Given the description of an element on the screen output the (x, y) to click on. 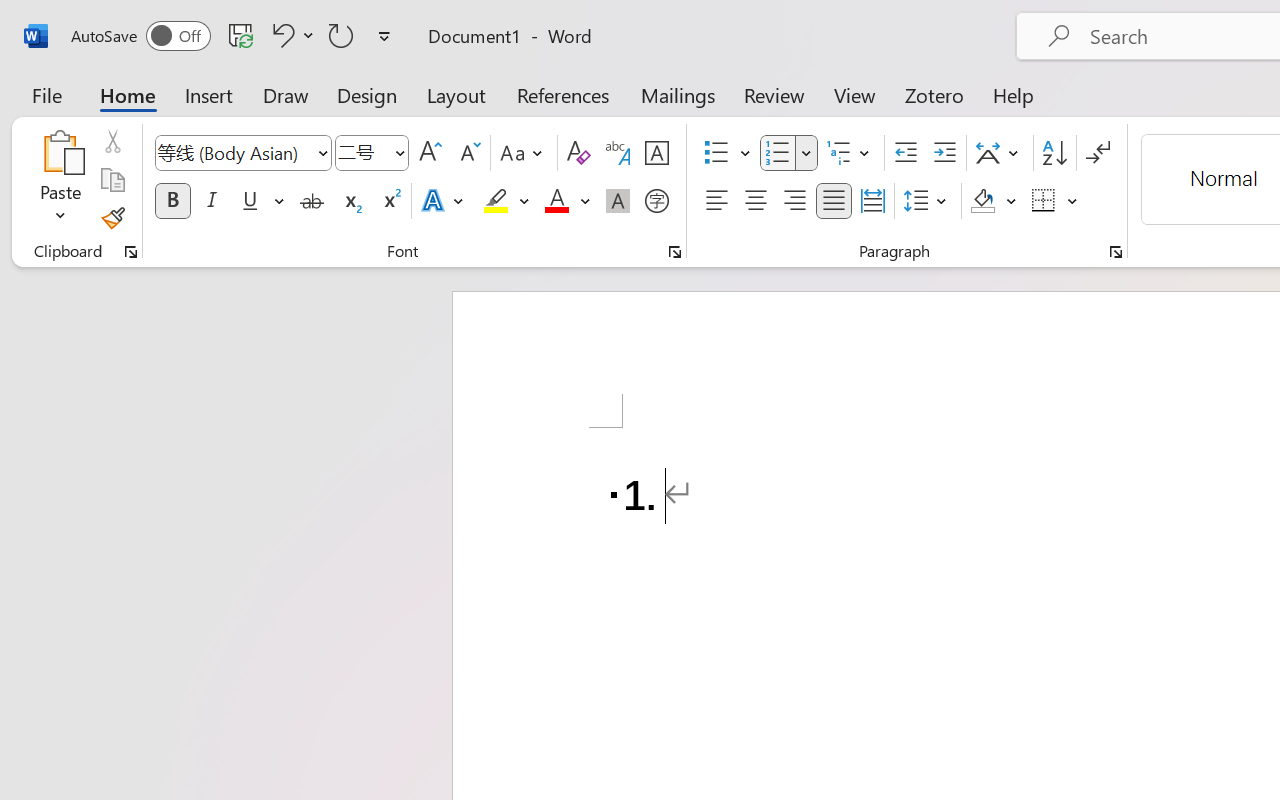
Undo Number Default (280, 35)
